Given the description of an element on the screen output the (x, y) to click on. 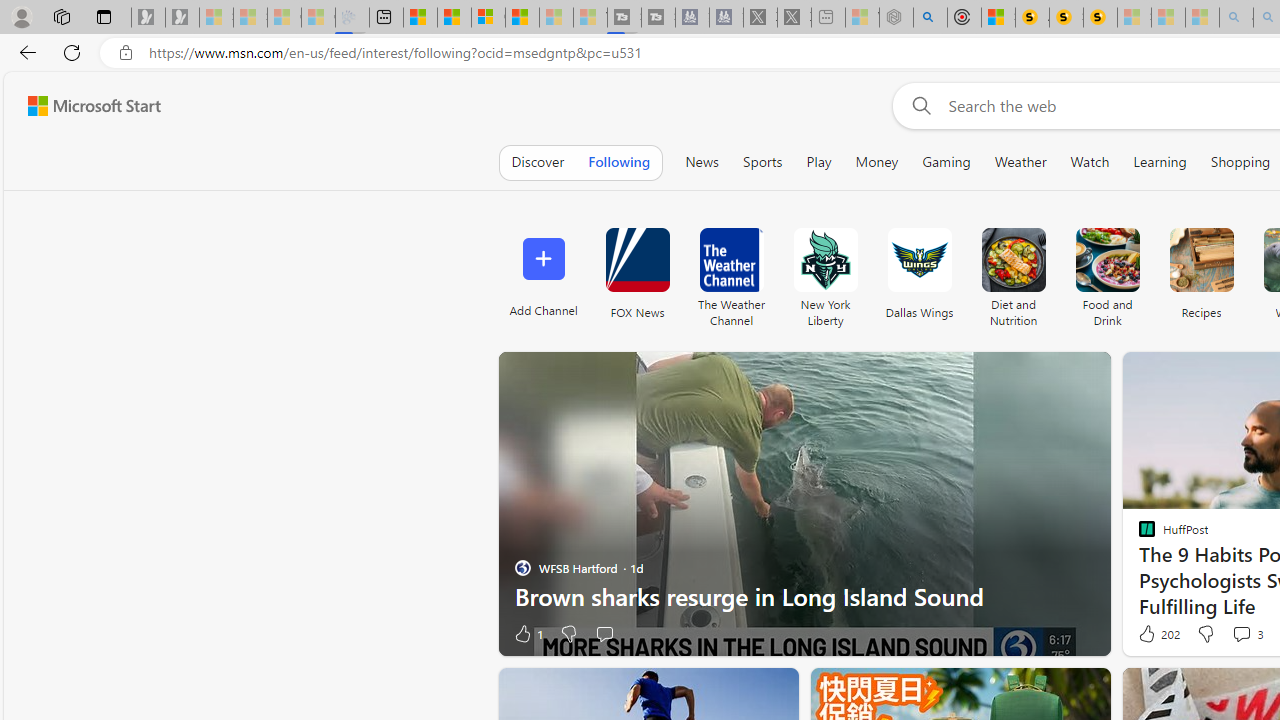
Diet and Nutrition (1012, 272)
Food and Drink (1107, 260)
